Given the description of an element on the screen output the (x, y) to click on. 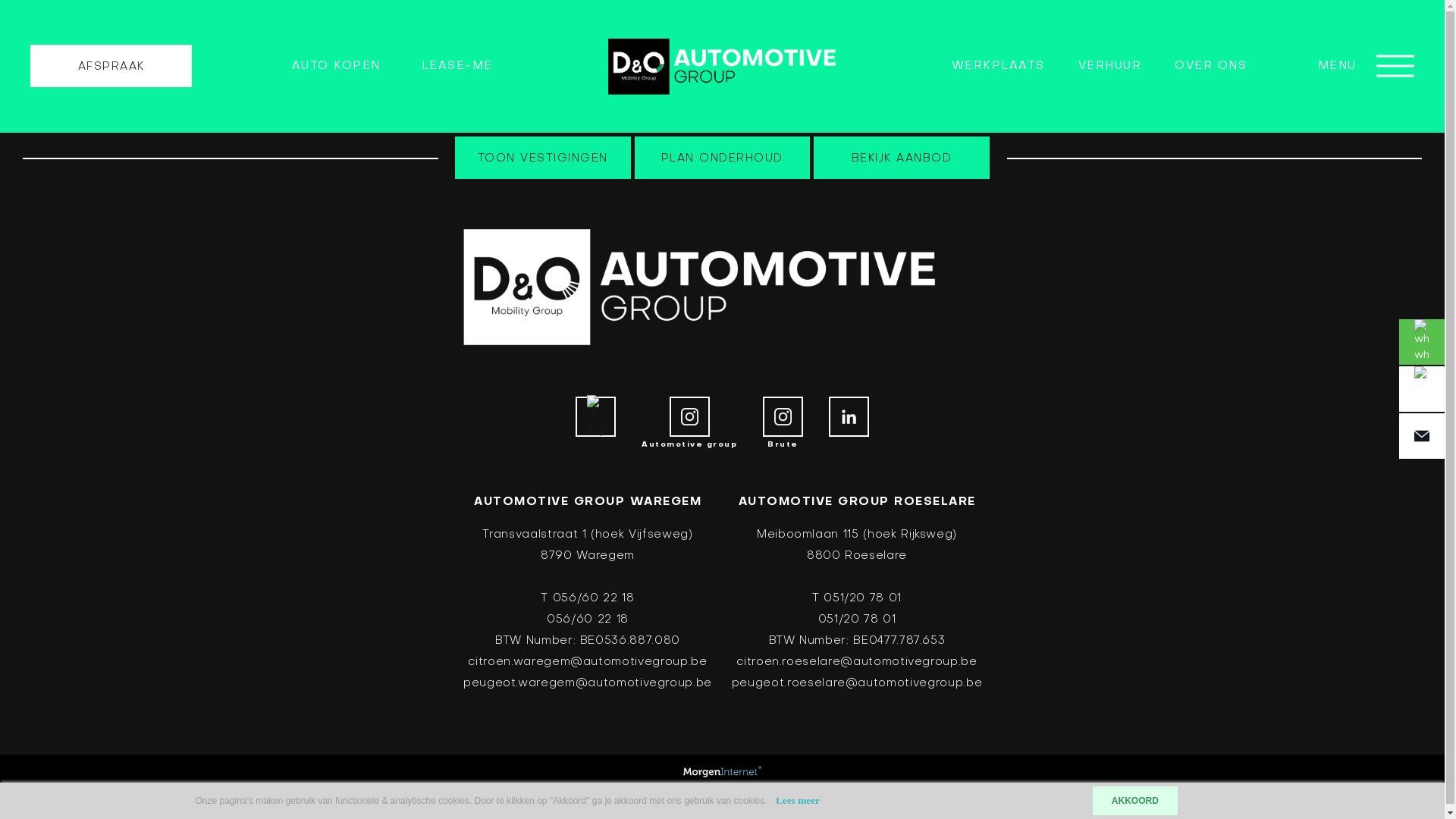
WERKPLAATS Element type: text (997, 65)
TOON VESTIGINGEN Element type: text (542, 157)
PLAN ONDERHOUD Element type: text (722, 157)
AUTO KOPEN Element type: text (336, 66)
T 051/20 78 01
051/20 78 01 Element type: text (856, 608)
citroen.roeselare@automotivegroup.be Element type: text (856, 661)
peugeot.roeselare@automotivegroup.be Element type: text (856, 682)
citroen.waregem@automotivegroup.be Element type: text (586, 661)
peugeot.waregem@automotivegroup.be Element type: text (587, 682)
Lees meer Element type: text (797, 800)
BEKIJK AANBOD Element type: text (901, 157)
LEASE-ME Element type: text (456, 65)
AKKOORD Element type: text (1134, 800)
AFSPRAAK Element type: text (110, 65)
OVER ONS Element type: text (1210, 65)
T 056/60 22 18
056/60 22 18 Element type: text (586, 608)
VERHUUR Element type: text (1110, 65)
